Given the description of an element on the screen output the (x, y) to click on. 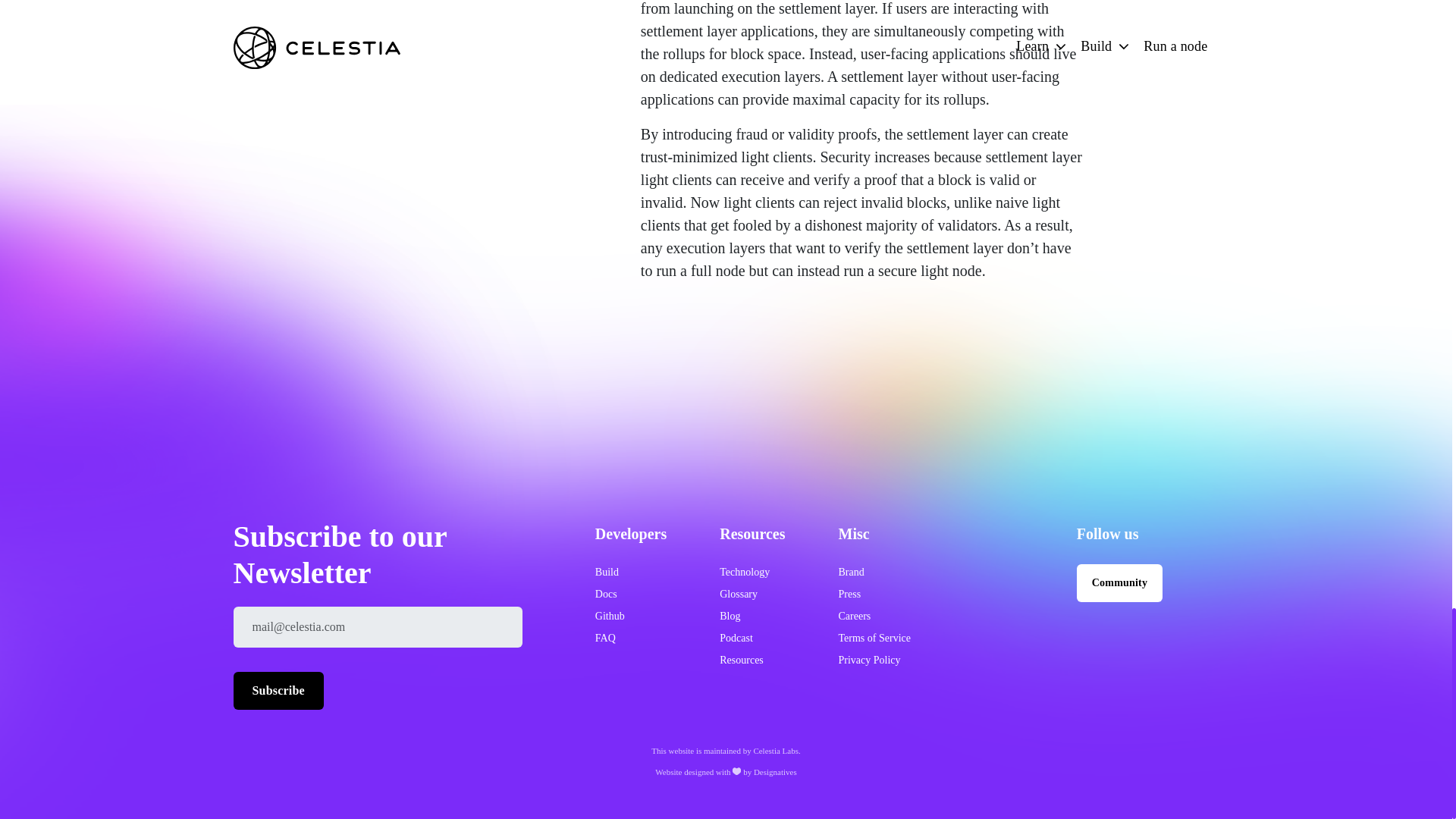
Subscribe (277, 690)
Technology (744, 572)
Glossary (738, 593)
Docs (606, 593)
Build (606, 572)
Blog (729, 615)
Github (609, 615)
FAQ (605, 637)
